Given the description of an element on the screen output the (x, y) to click on. 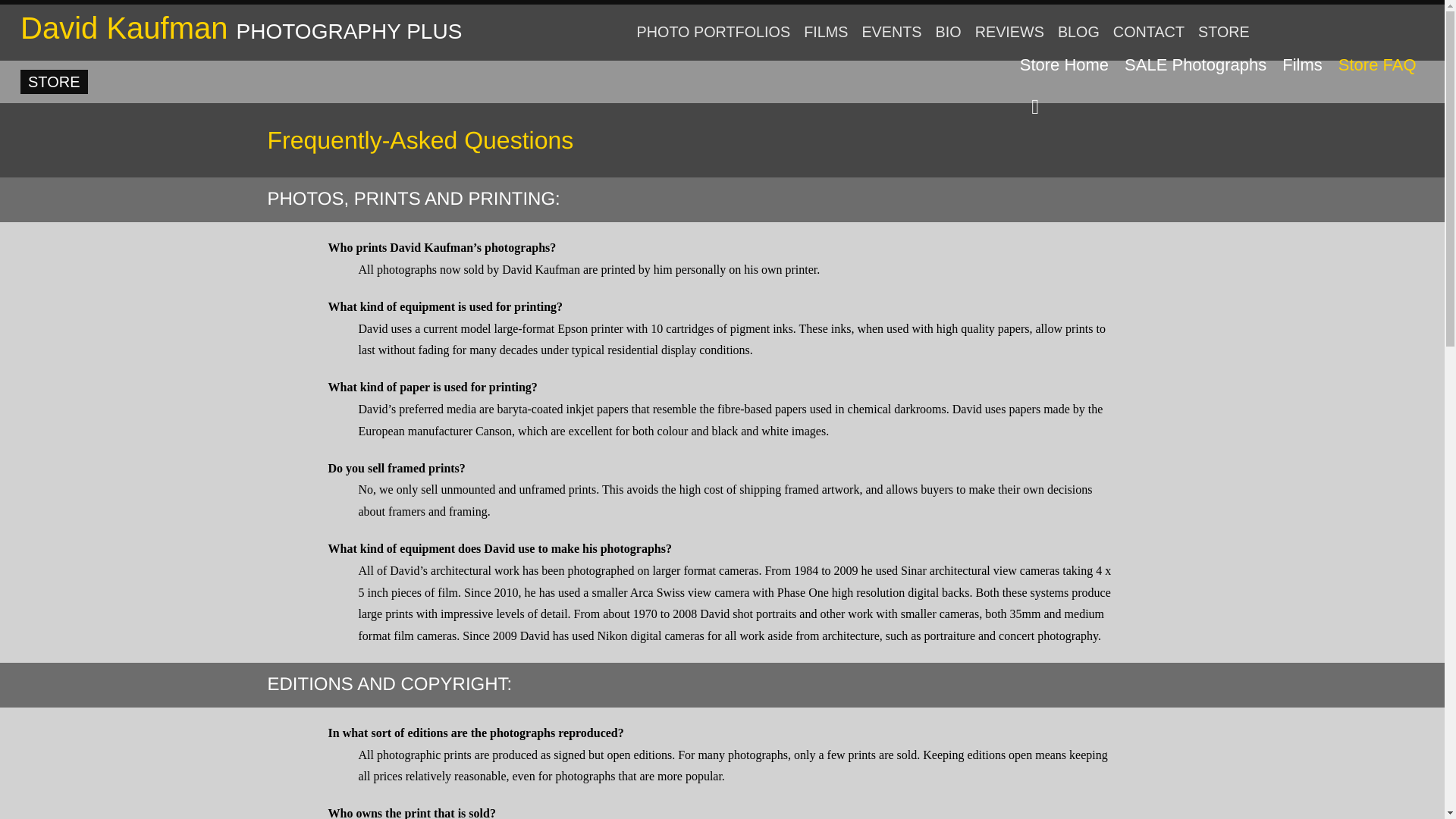
EVENTS (891, 32)
BIO (948, 32)
David Kaufman PHOTOGRAPHY PLUS (240, 28)
Films (1302, 65)
FILMS (825, 32)
STORE (1223, 32)
CONTACT (1148, 32)
REVIEWS (1009, 32)
Store FAQ (1376, 65)
BLOG (1078, 32)
